Given the description of an element on the screen output the (x, y) to click on. 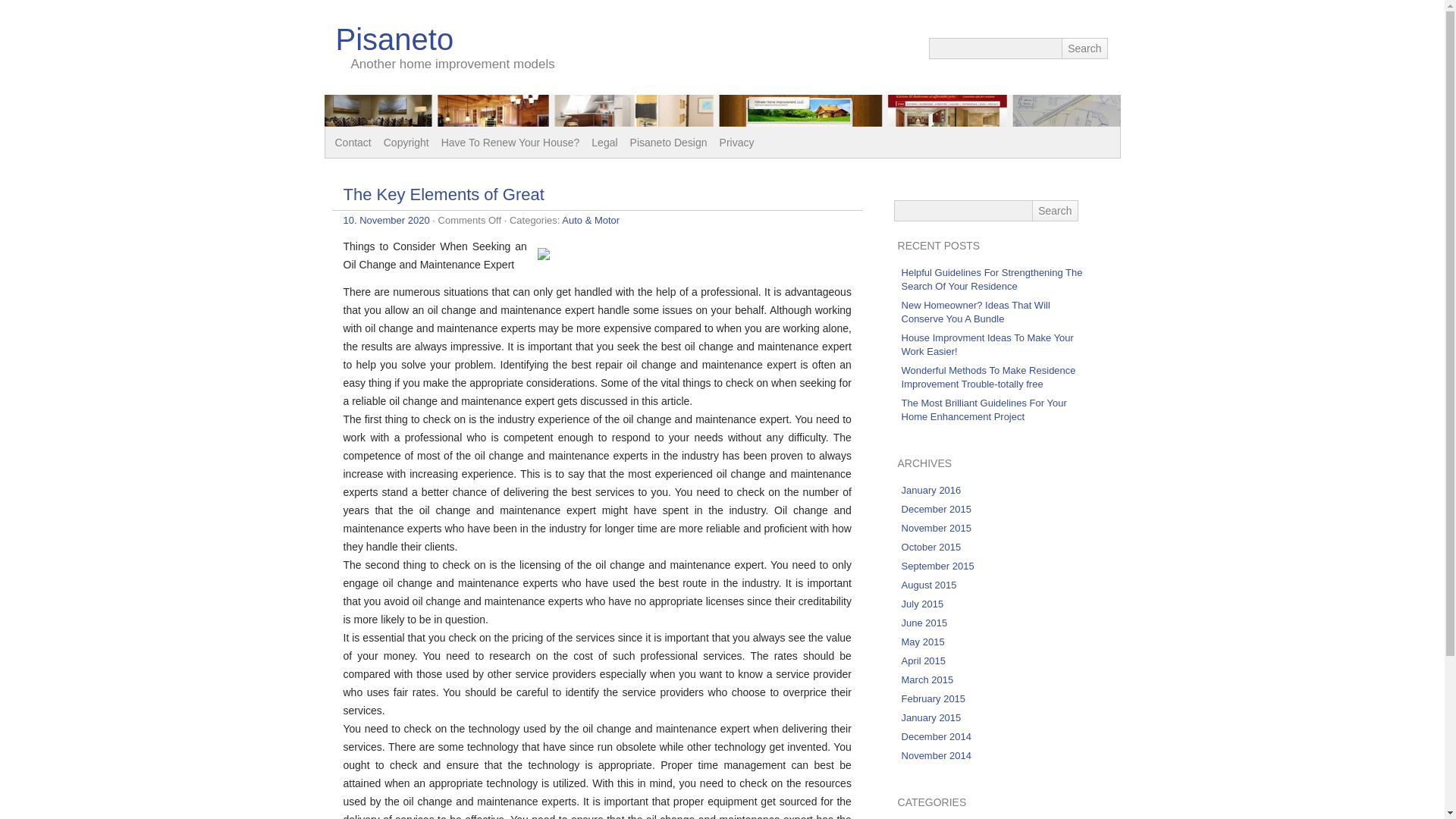
New Homeowner? Ideas That Will Conserve You A Bundle (975, 311)
January 2016 (930, 490)
December 2014 (936, 736)
March 2015 (927, 679)
Legal (604, 142)
January 2015 (930, 717)
November 2014 (936, 755)
Contact (353, 142)
October 2015 (930, 546)
Search (1083, 47)
Copyright (406, 142)
September 2015 (937, 565)
Have To Renew Your House? (510, 142)
